Given the description of an element on the screen output the (x, y) to click on. 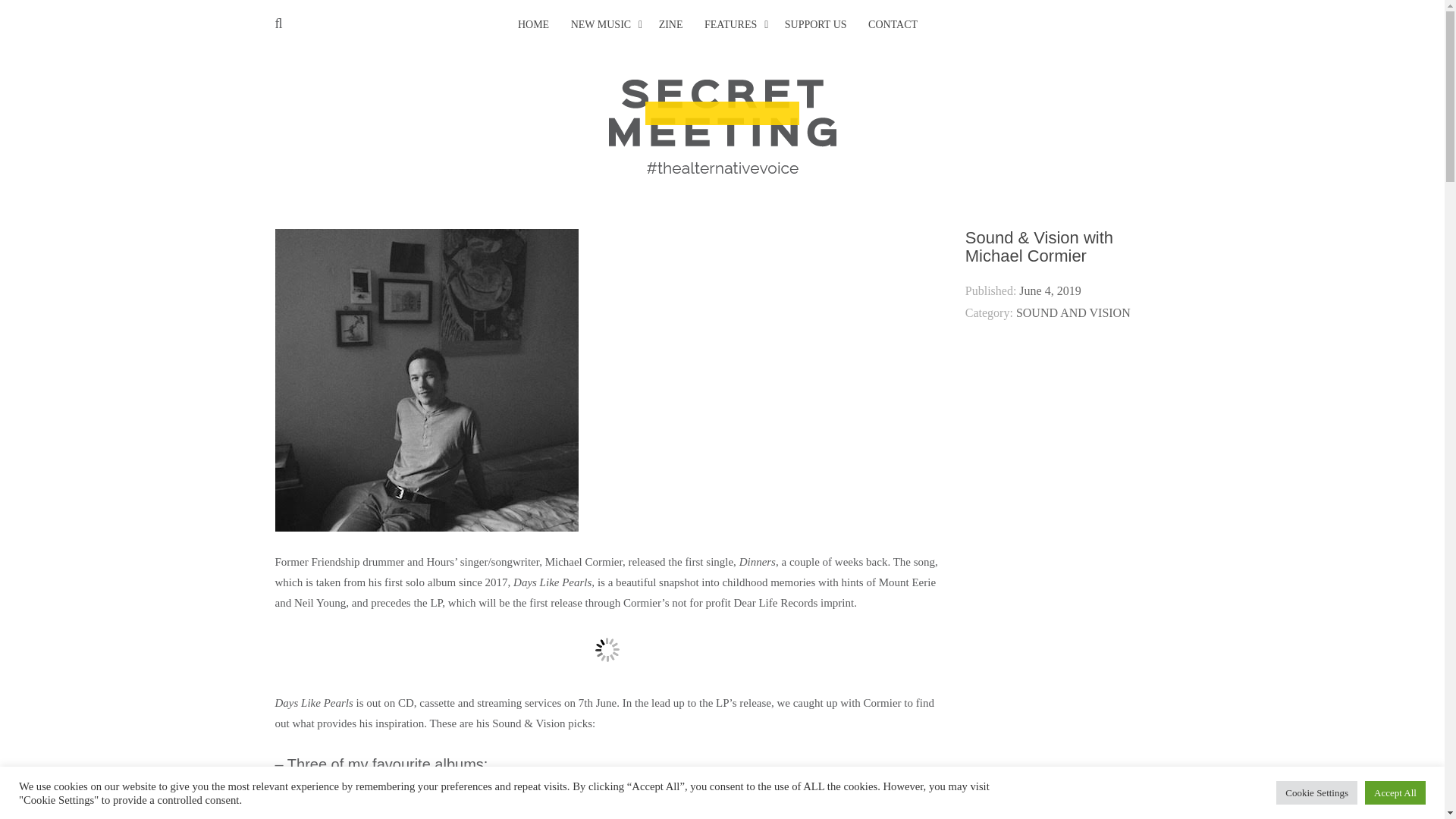
CONTACT (892, 25)
HOME (533, 25)
SUPPORT US (815, 25)
FEATURES (730, 25)
ZINE (670, 25)
NEW MUSIC (600, 25)
